Given the description of an element on the screen output the (x, y) to click on. 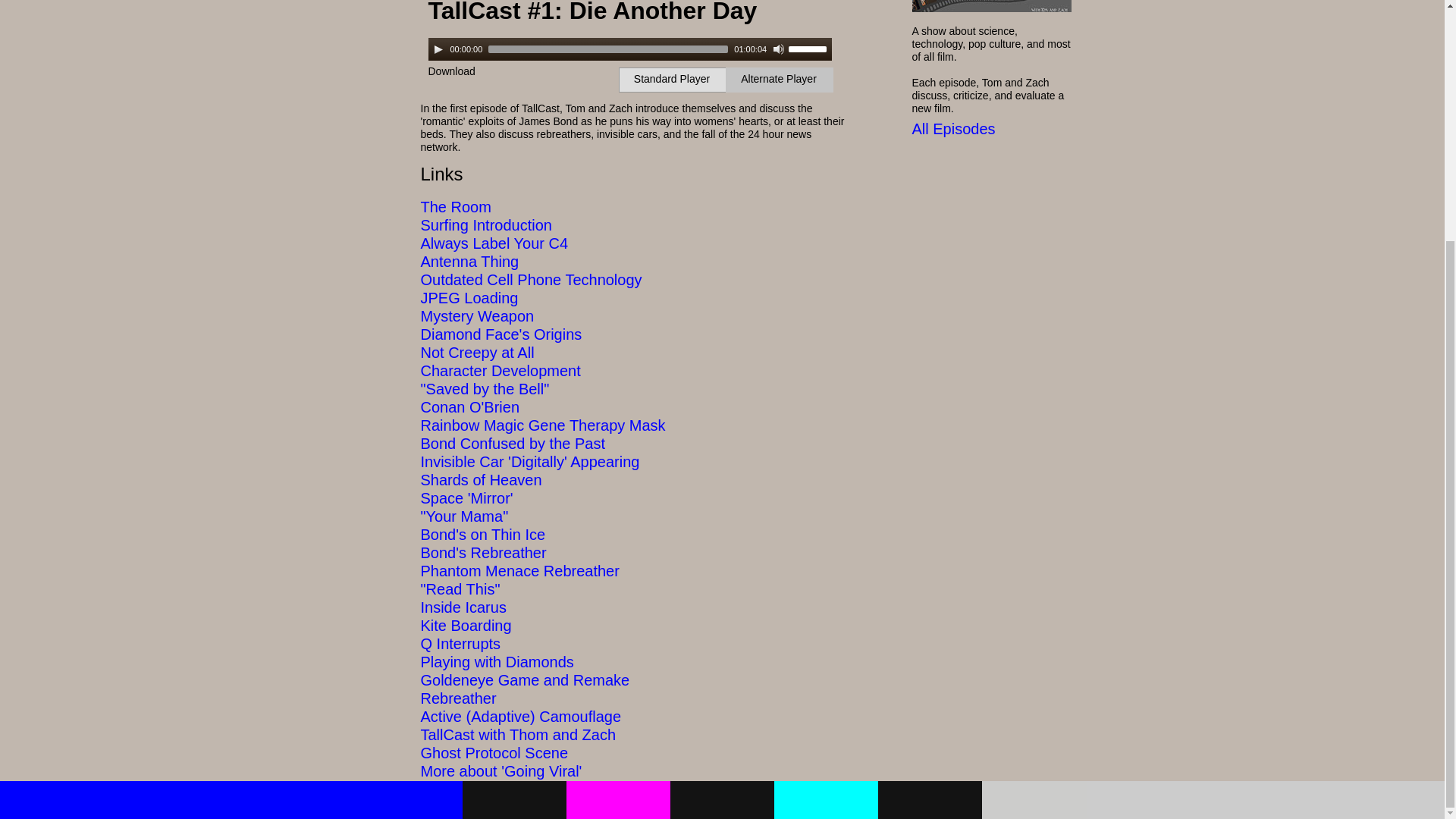
Playing with Diamonds (496, 661)
Bond's Rebreather (483, 552)
The Room (455, 207)
Diamond Face's Origins (500, 334)
Phantom Menace Rebreather (519, 570)
Mystery Weapon (477, 315)
Surfing (443, 225)
Space 'Mirror' (466, 497)
Outdated Cell Phone Technology (531, 279)
"Your Mama" (464, 515)
Play (438, 49)
Not Creepy at All (477, 352)
Inside Icarus (462, 606)
Bond Confused by the Past (512, 443)
Introduction (511, 225)
